Given the description of an element on the screen output the (x, y) to click on. 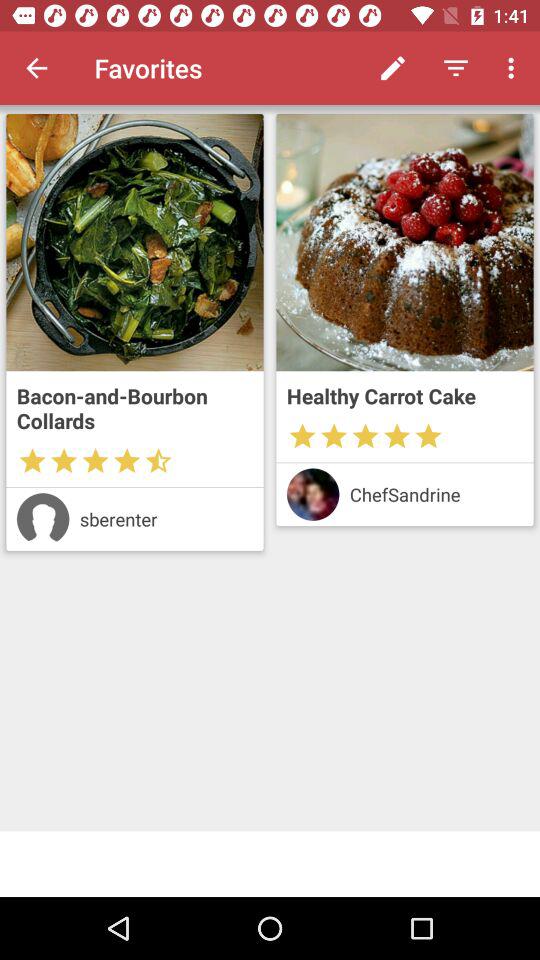
open perfil option (42, 519)
